Given the description of an element on the screen output the (x, y) to click on. 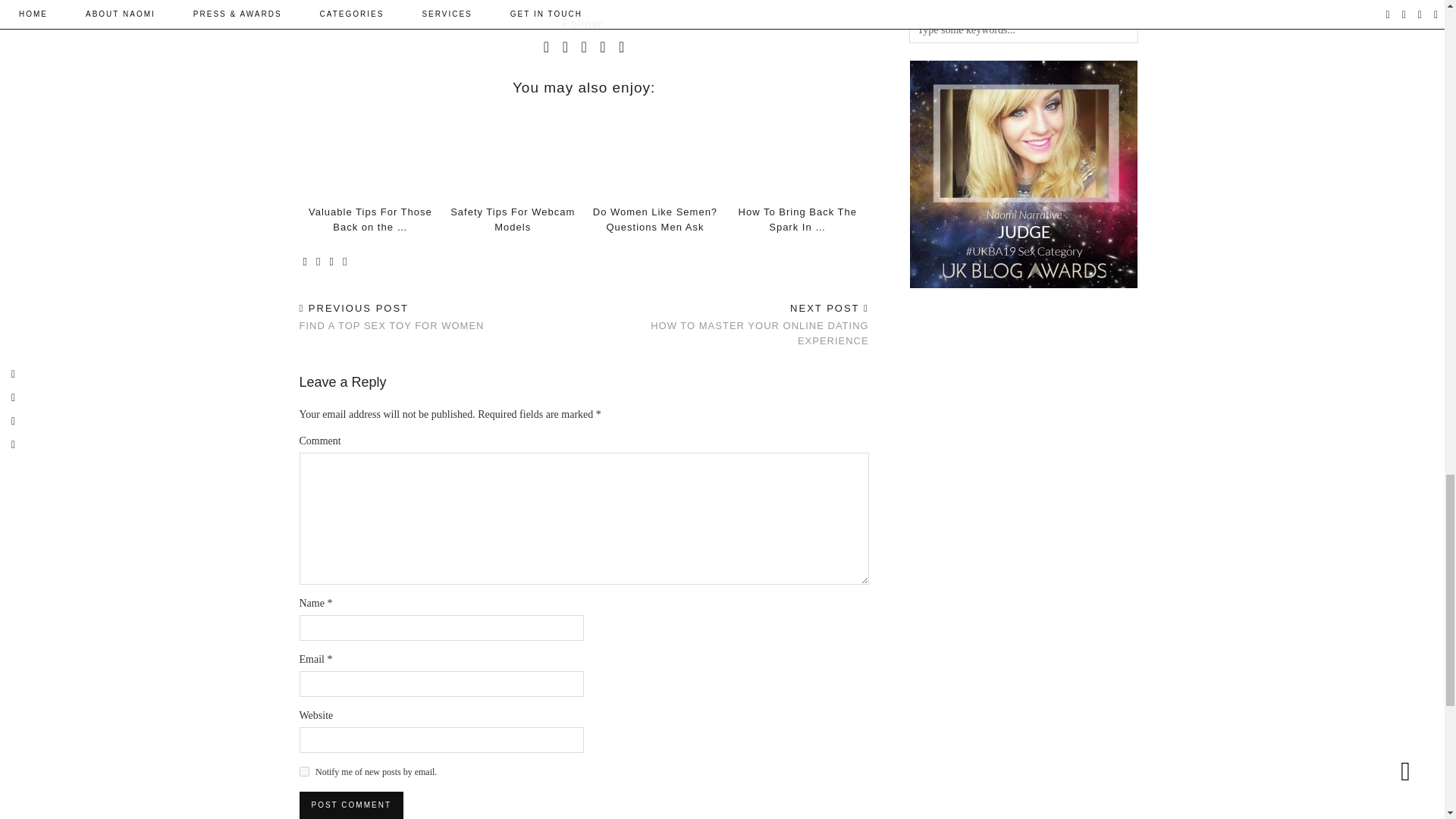
subscribe (303, 770)
How To Bring Back The Spark In Your Relationship (797, 153)
Share via email (304, 262)
Do Women Like Semen? Questions Men Ask (654, 219)
How To Bring Back The Spark In Your Relationship (797, 219)
Post Comment (350, 805)
Valuable Tips For Those Back on the Dating Scene Again (369, 153)
Do Women Like Semen? Questions Men Ask (654, 219)
Safety Tips For Webcam Models (512, 153)
Valuable Tips For Those Back on the Dating Scene Again (370, 219)
Share on Facebook (318, 262)
Safety Tips For Webcam Models (512, 219)
Safety Tips For Webcam Models (512, 219)
Do Women Like Semen? Questions Men Ask (654, 153)
